Given the description of an element on the screen output the (x, y) to click on. 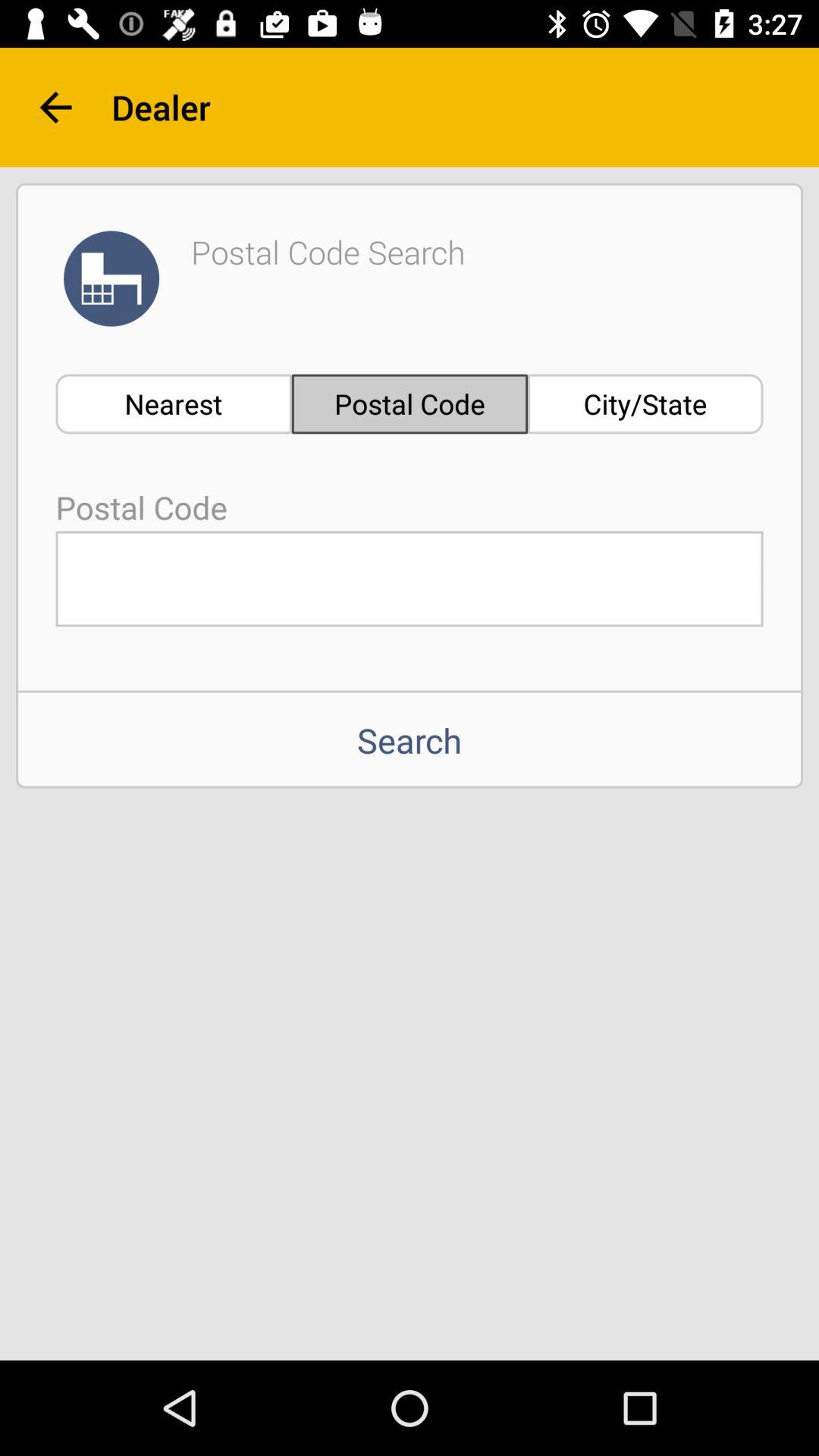
swipe to the city/state item (645, 403)
